Given the description of an element on the screen output the (x, y) to click on. 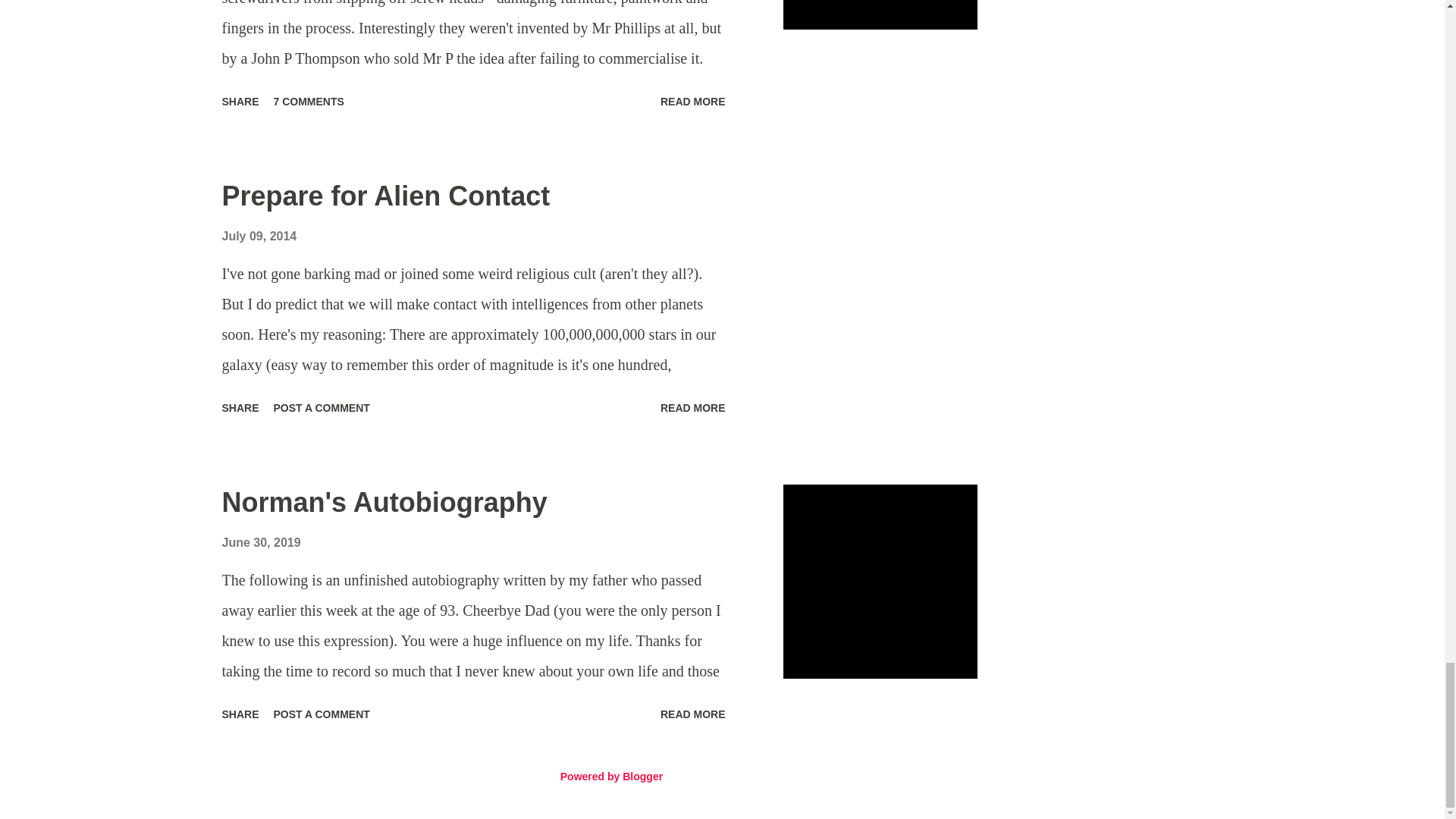
SHARE (239, 101)
7 COMMENTS (308, 101)
READ MORE (692, 101)
